Given the description of an element on the screen output the (x, y) to click on. 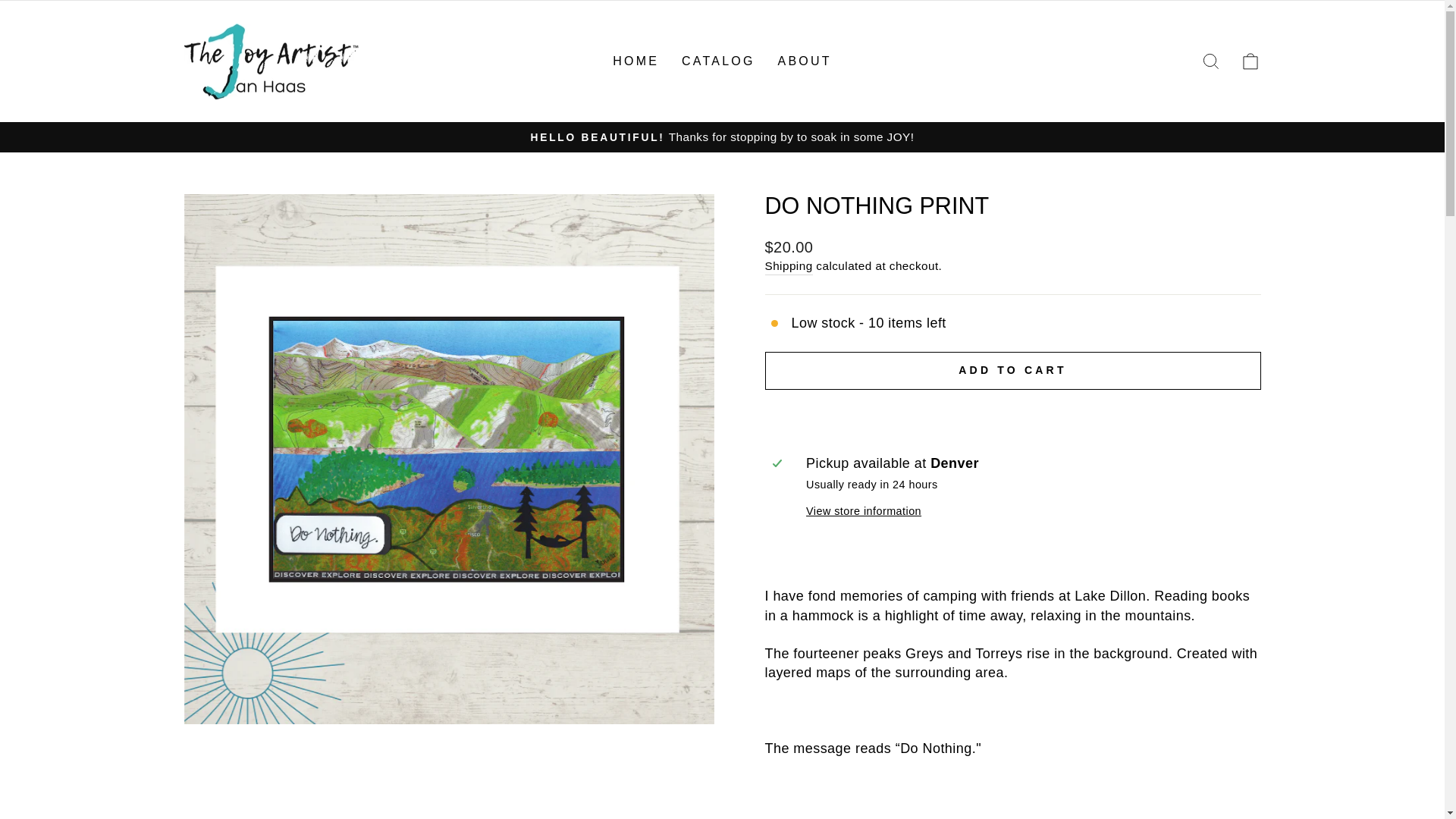
SEARCH (1210, 60)
Shipping (788, 265)
HOME (635, 60)
CATALOG (718, 60)
ADD TO CART (1012, 370)
ABOUT (805, 60)
CART (1249, 60)
